Given the description of an element on the screen output the (x, y) to click on. 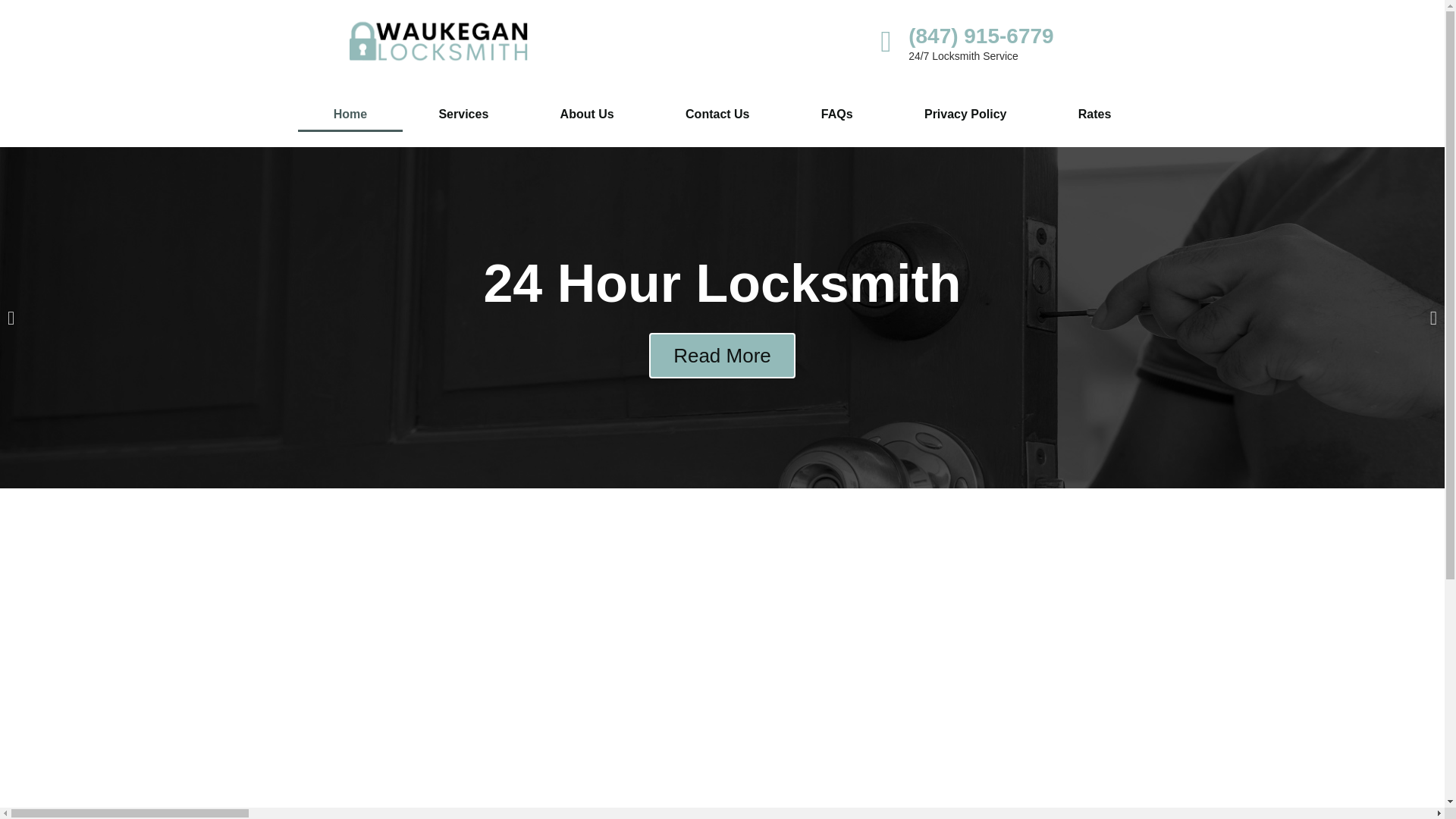
Services (463, 114)
Privacy Policy (965, 114)
Rates (1094, 114)
FAQs (837, 114)
About Us (586, 114)
Home (350, 114)
